Given the description of an element on the screen output the (x, y) to click on. 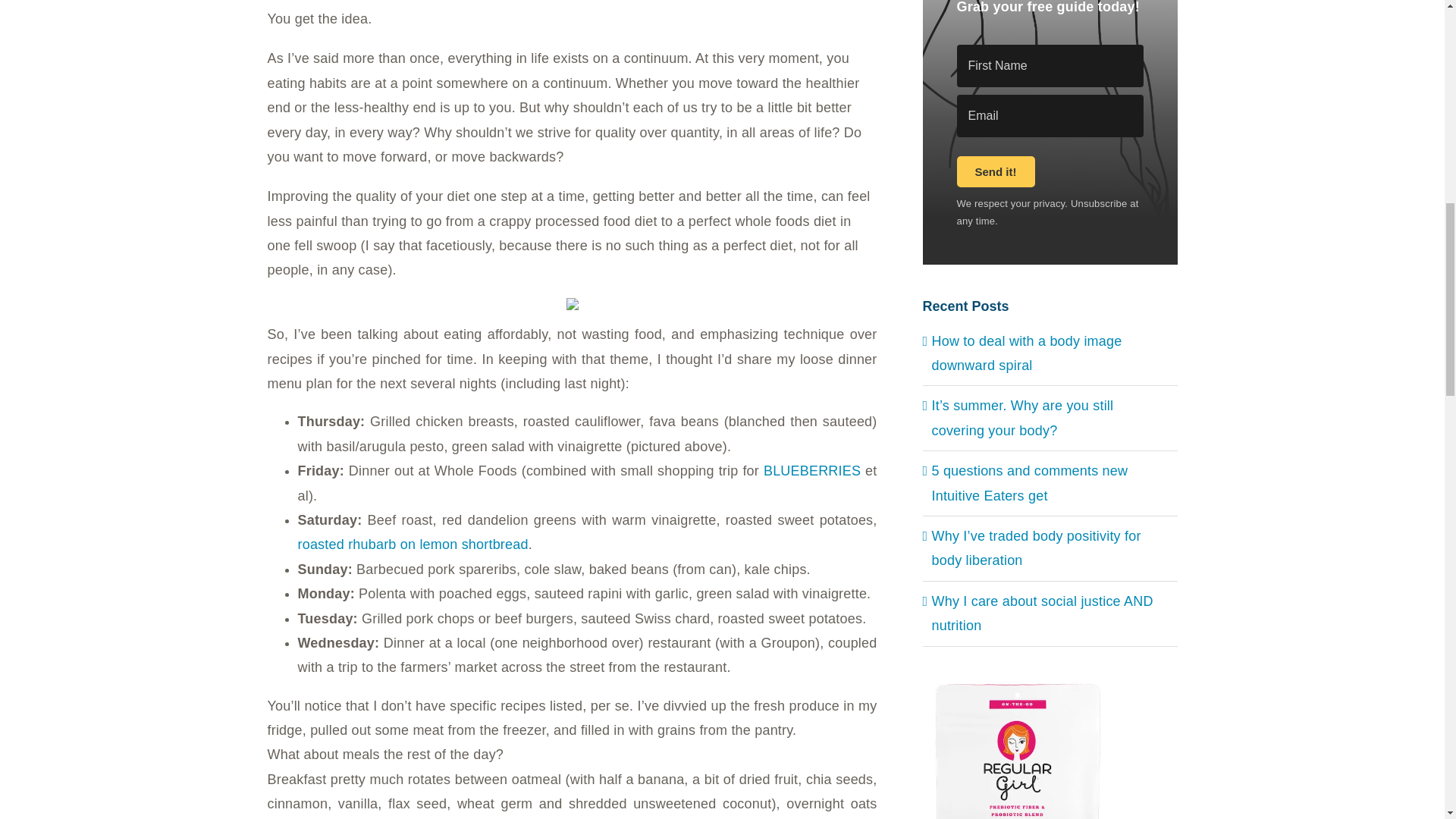
BLUEBERRIES (811, 470)
roasted rhubarb on lemon shortbread (412, 544)
